Given the description of an element on the screen output the (x, y) to click on. 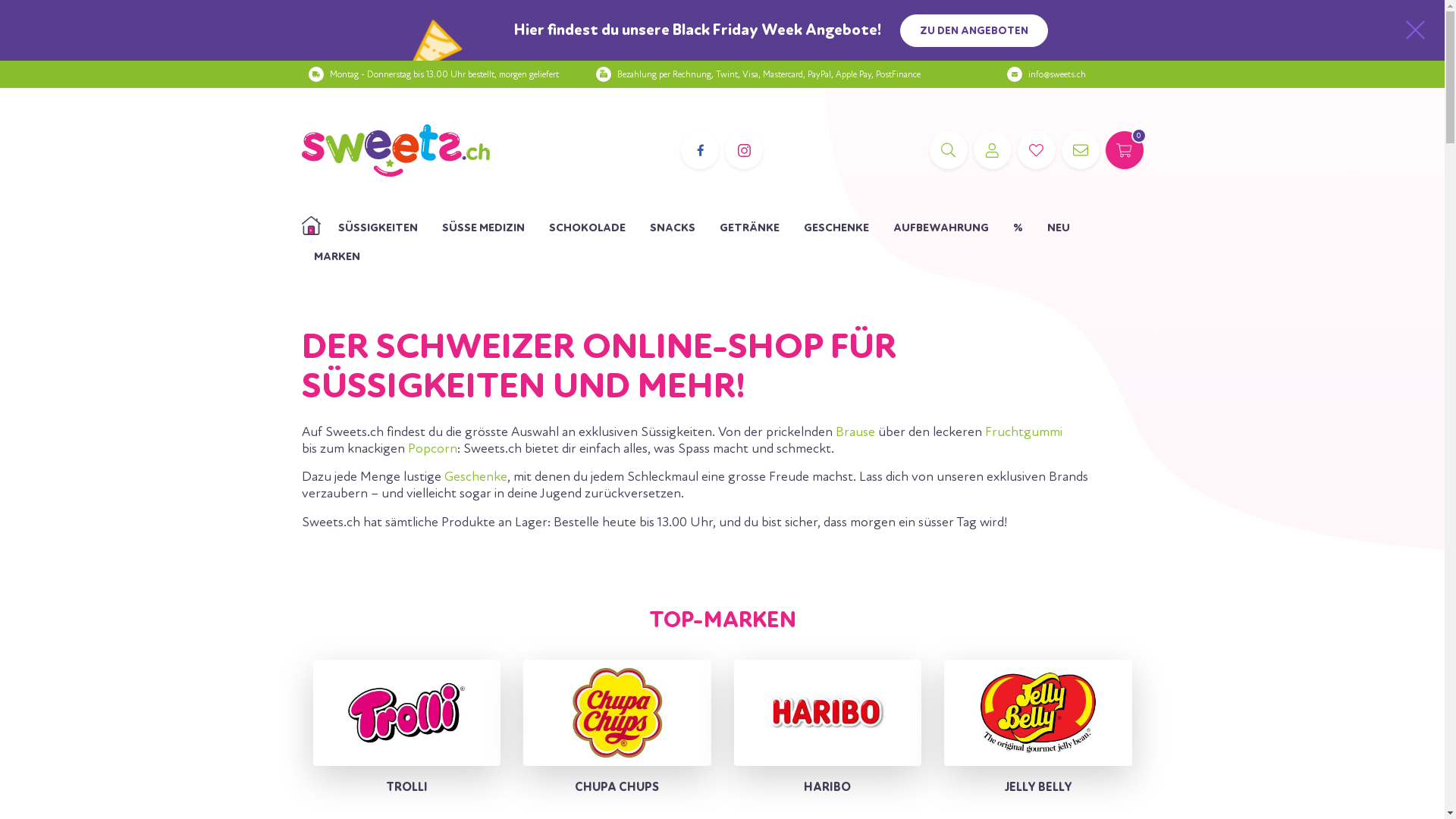
0 Element type: text (1124, 150)
NEU Element type: text (1057, 227)
ZU DEN ANGEBOTEN Element type: text (974, 29)
% Element type: text (1018, 227)
info@sweets.ch Element type: text (1056, 74)
WUNSCHLISTE Element type: text (1036, 150)
SNACKS Element type: text (671, 227)
